Given the description of an element on the screen output the (x, y) to click on. 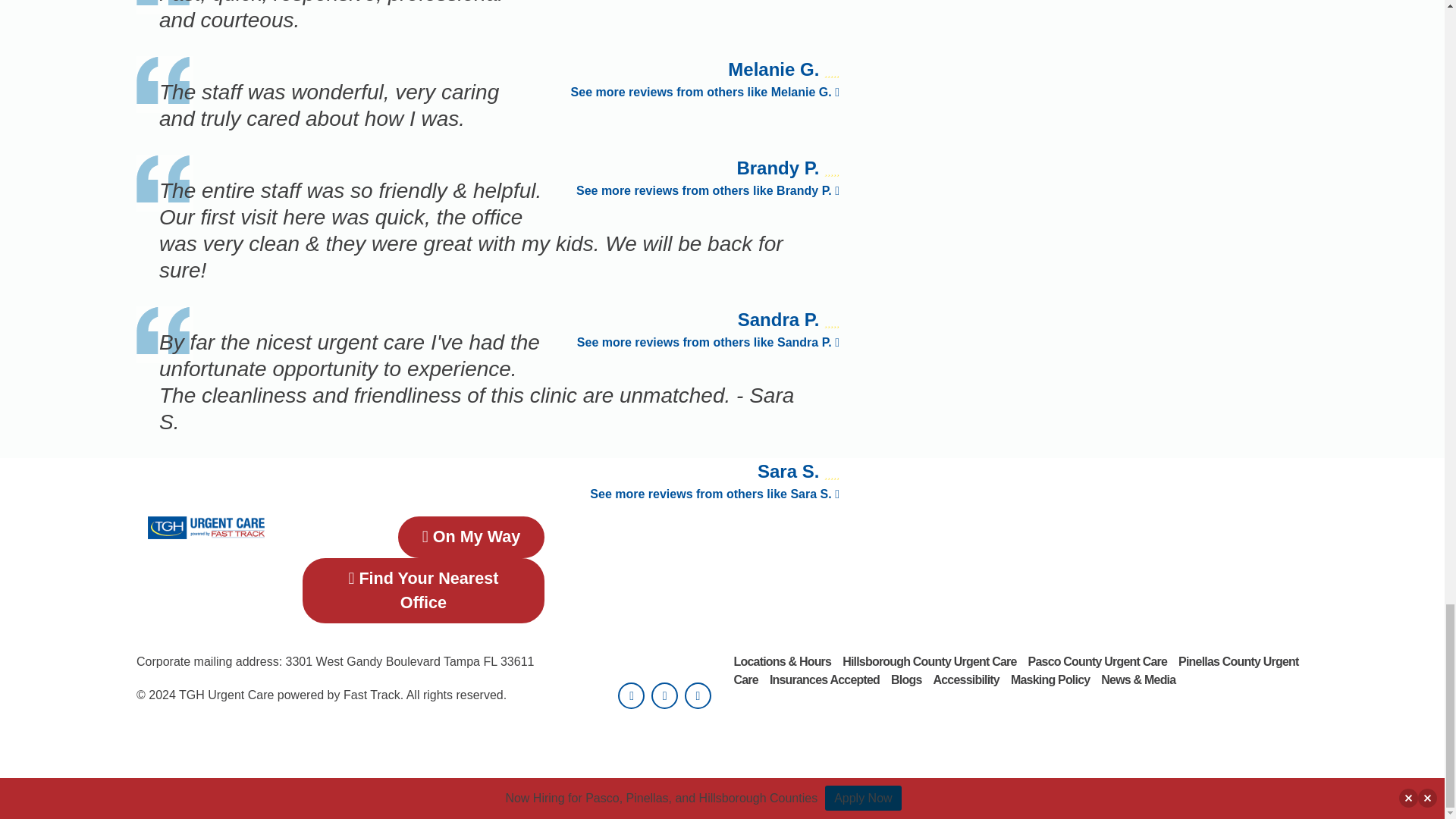
TGH Urgent Care powered by Fast Track (206, 526)
